Given the description of an element on the screen output the (x, y) to click on. 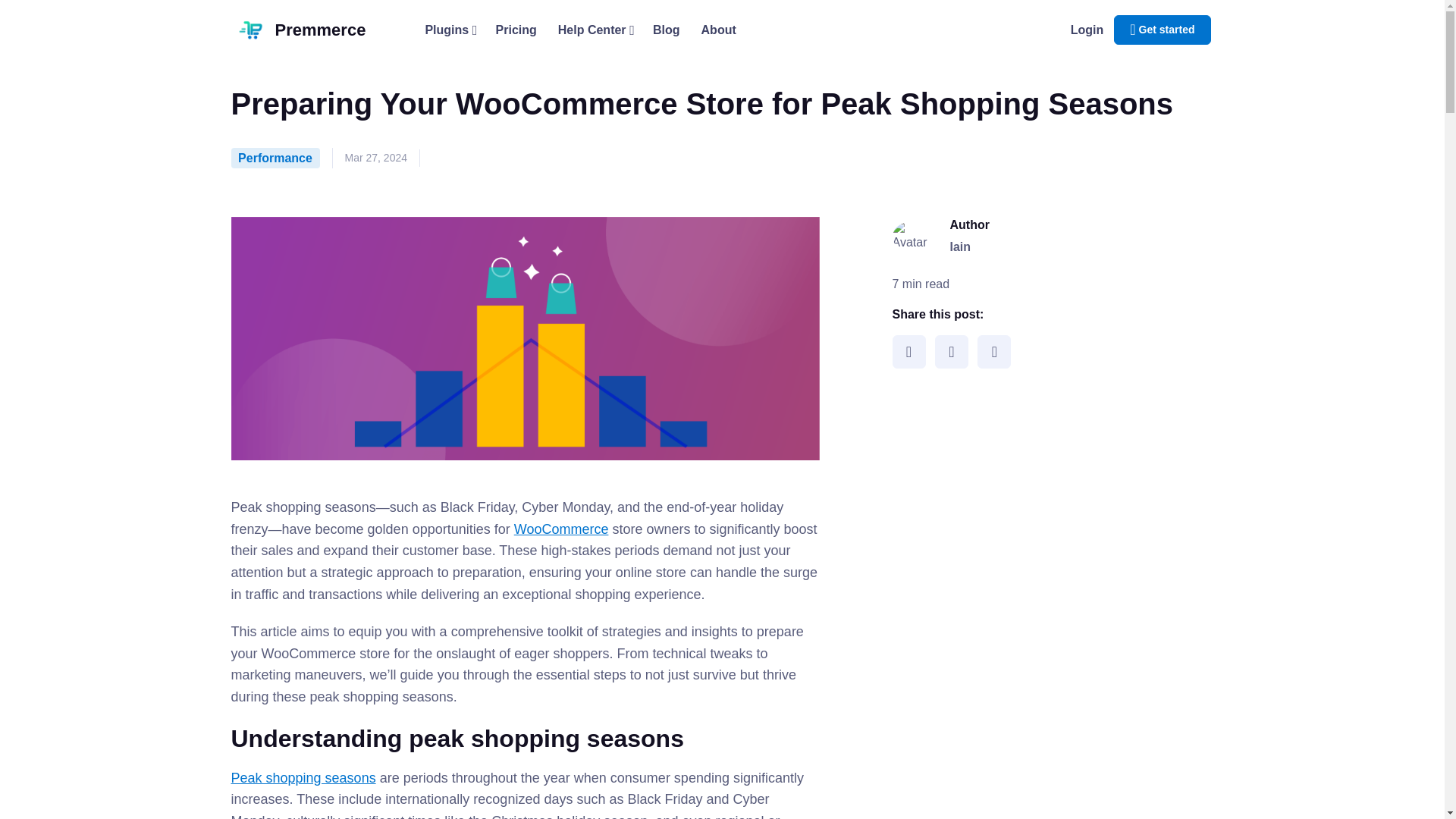
Peak shopping seasons (302, 777)
WooCommerce (560, 529)
Help Center (594, 29)
Blog (666, 29)
Performance (275, 157)
Get started (1161, 30)
About (718, 29)
Premmerce (316, 29)
Plugins (448, 29)
Pricing (515, 29)
